Given the description of an element on the screen output the (x, y) to click on. 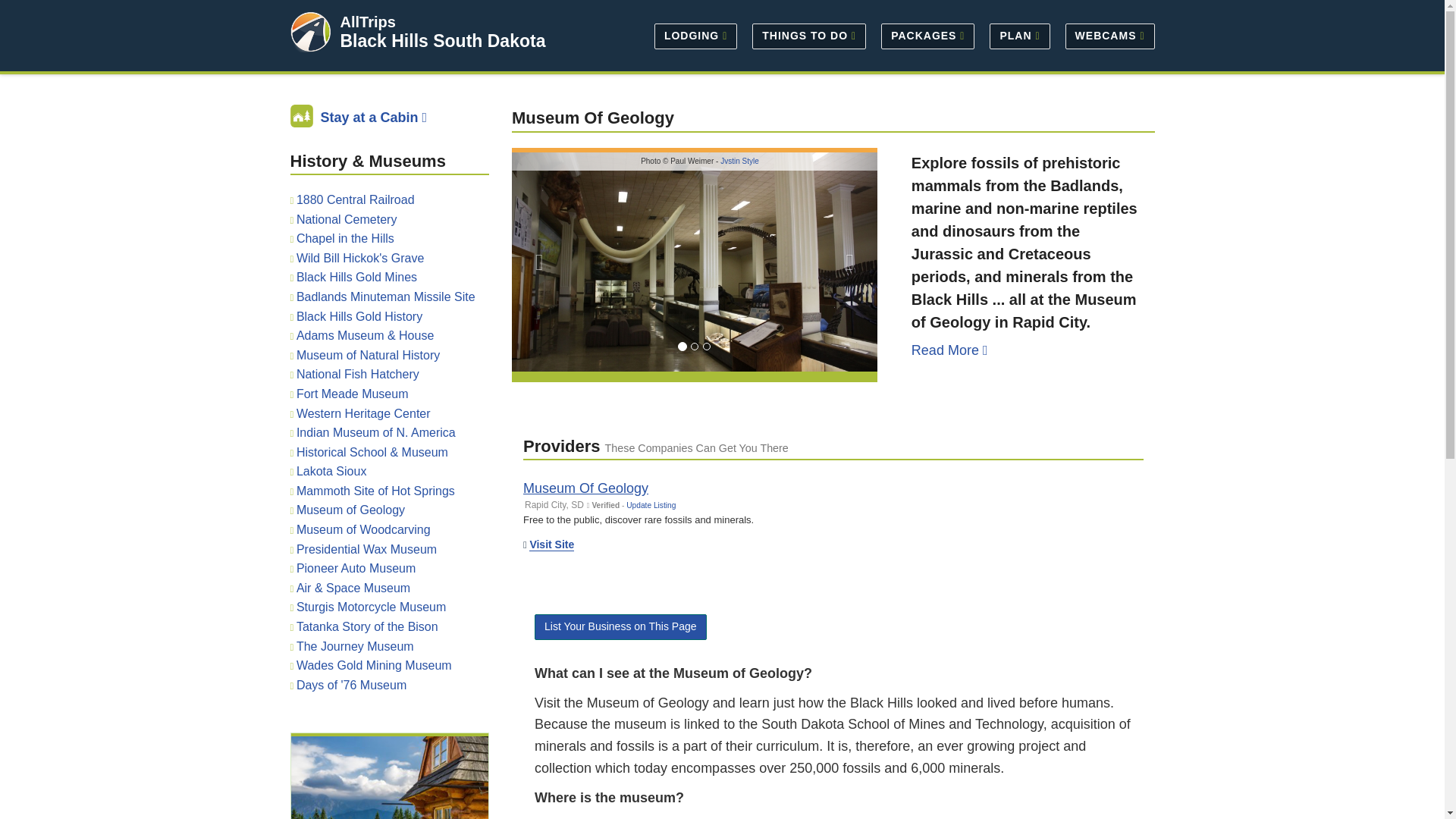
AllTrips (366, 21)
PACKAGES (927, 35)
WEBCAMS (1106, 35)
Jvstin Style (739, 161)
Black Hills South Dakota (441, 40)
LODGING (695, 35)
PLAN (1019, 35)
THINGS TO DO (808, 35)
